Given the description of an element on the screen output the (x, y) to click on. 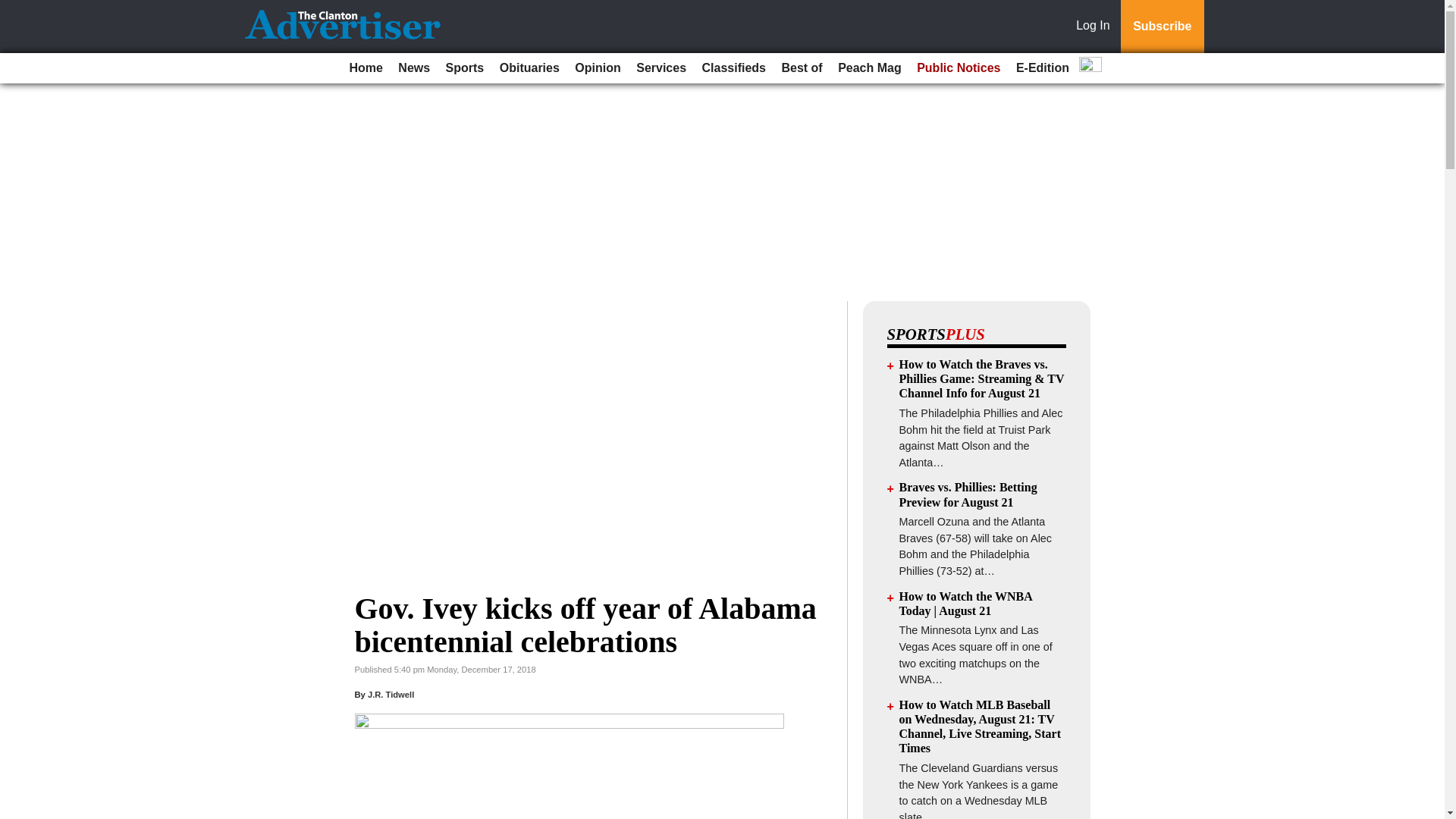
Braves vs. Phillies: Betting Preview for August 21 (967, 493)
Subscribe (1162, 26)
Obituaries (529, 68)
Classifieds (733, 68)
Opinion (597, 68)
Best of (801, 68)
Sports (464, 68)
Home (365, 68)
Peach Mag (869, 68)
E-Edition (1042, 68)
